Given the description of an element on the screen output the (x, y) to click on. 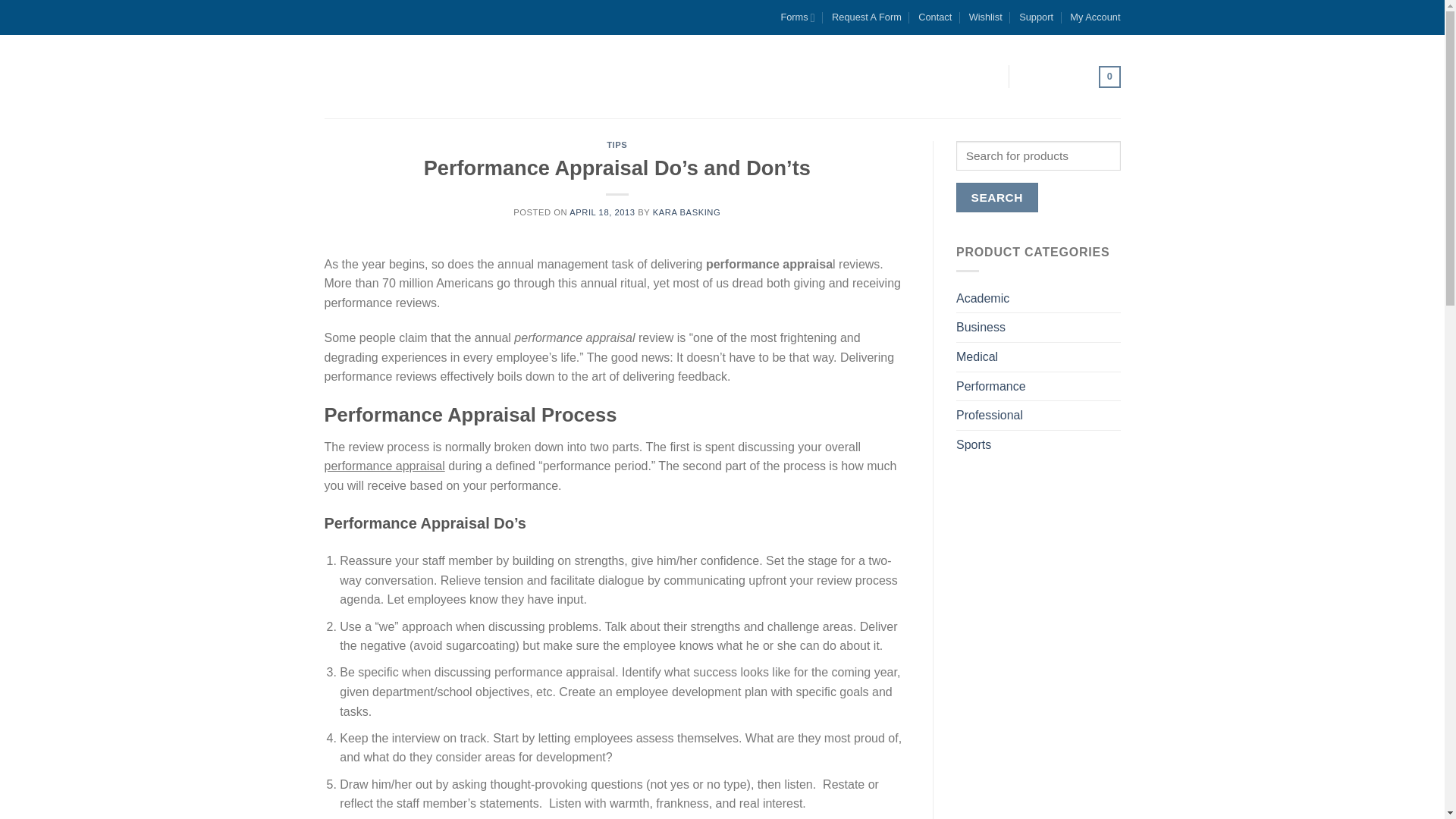
NEWS (773, 76)
My Account (1094, 16)
HOME (550, 76)
Wishlist (986, 16)
TIPS (617, 144)
Forms (796, 16)
LOGIN (979, 76)
LEARNING (617, 76)
Search (997, 197)
Cart (1074, 77)
Request A Form (866, 16)
Support (1035, 16)
Contact (935, 16)
SHOP (828, 76)
